Given the description of an element on the screen output the (x, y) to click on. 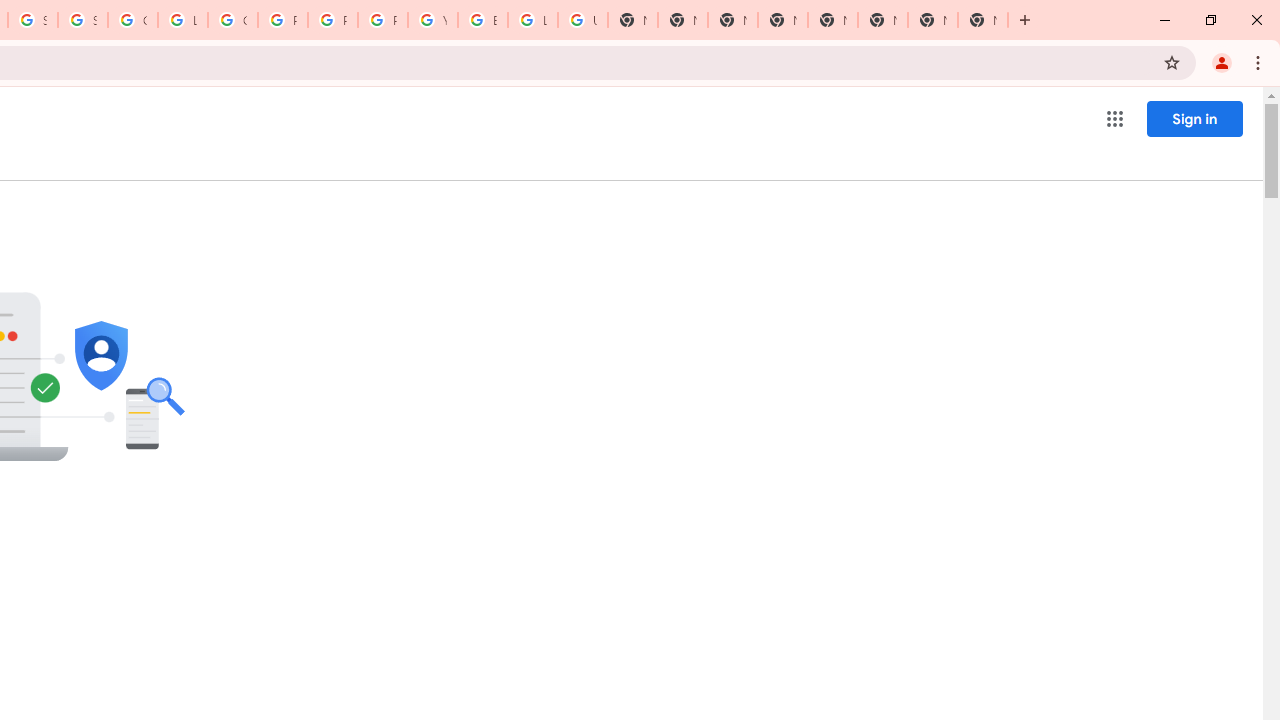
New Tab (832, 20)
Privacy Help Center - Policies Help (283, 20)
New Tab (882, 20)
New Tab (732, 20)
Sign in - Google Accounts (82, 20)
YouTube (433, 20)
